Given the description of an element on the screen output the (x, y) to click on. 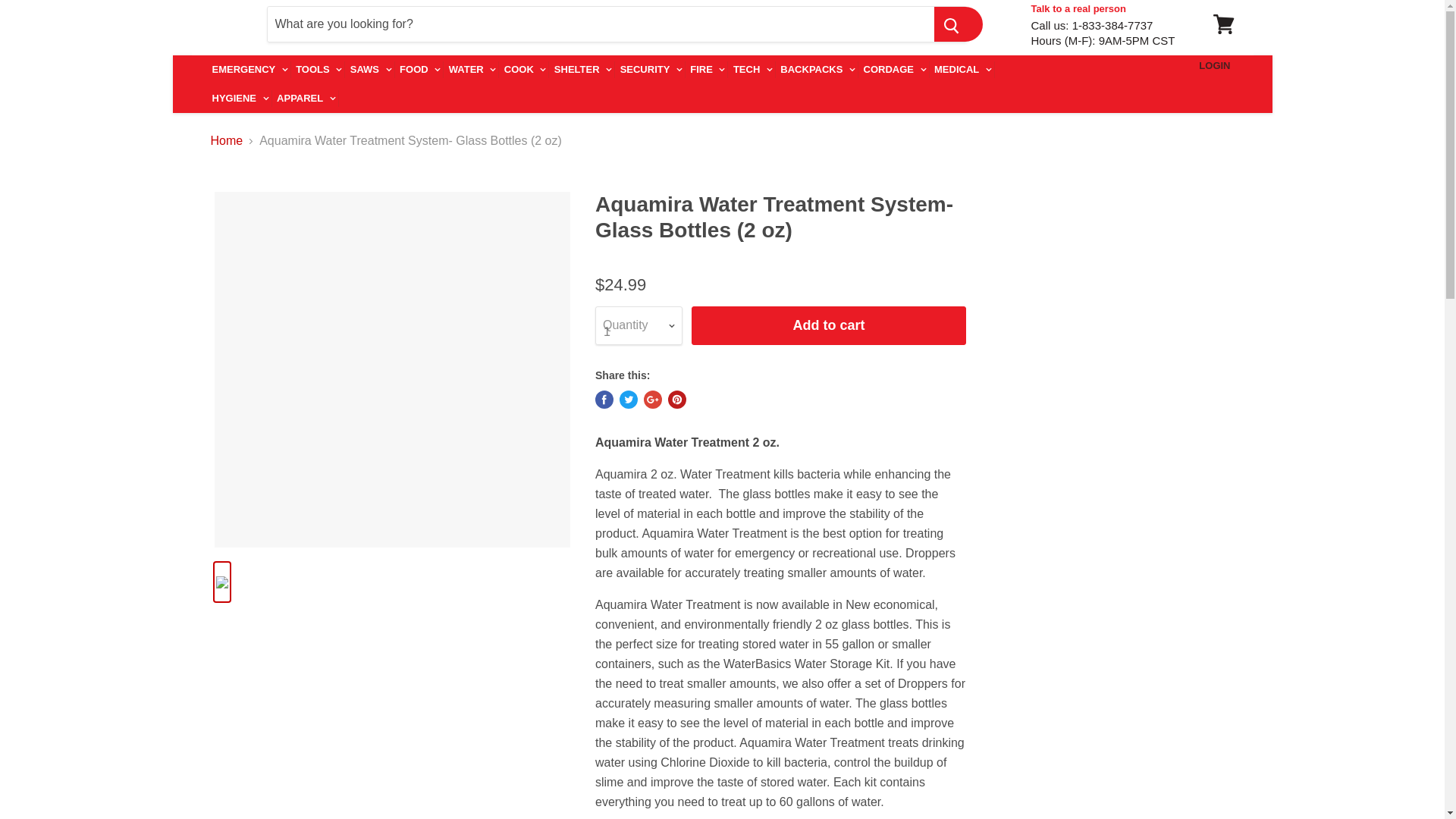
EMERGENCY (251, 69)
TOOLS (319, 69)
